Given the description of an element on the screen output the (x, y) to click on. 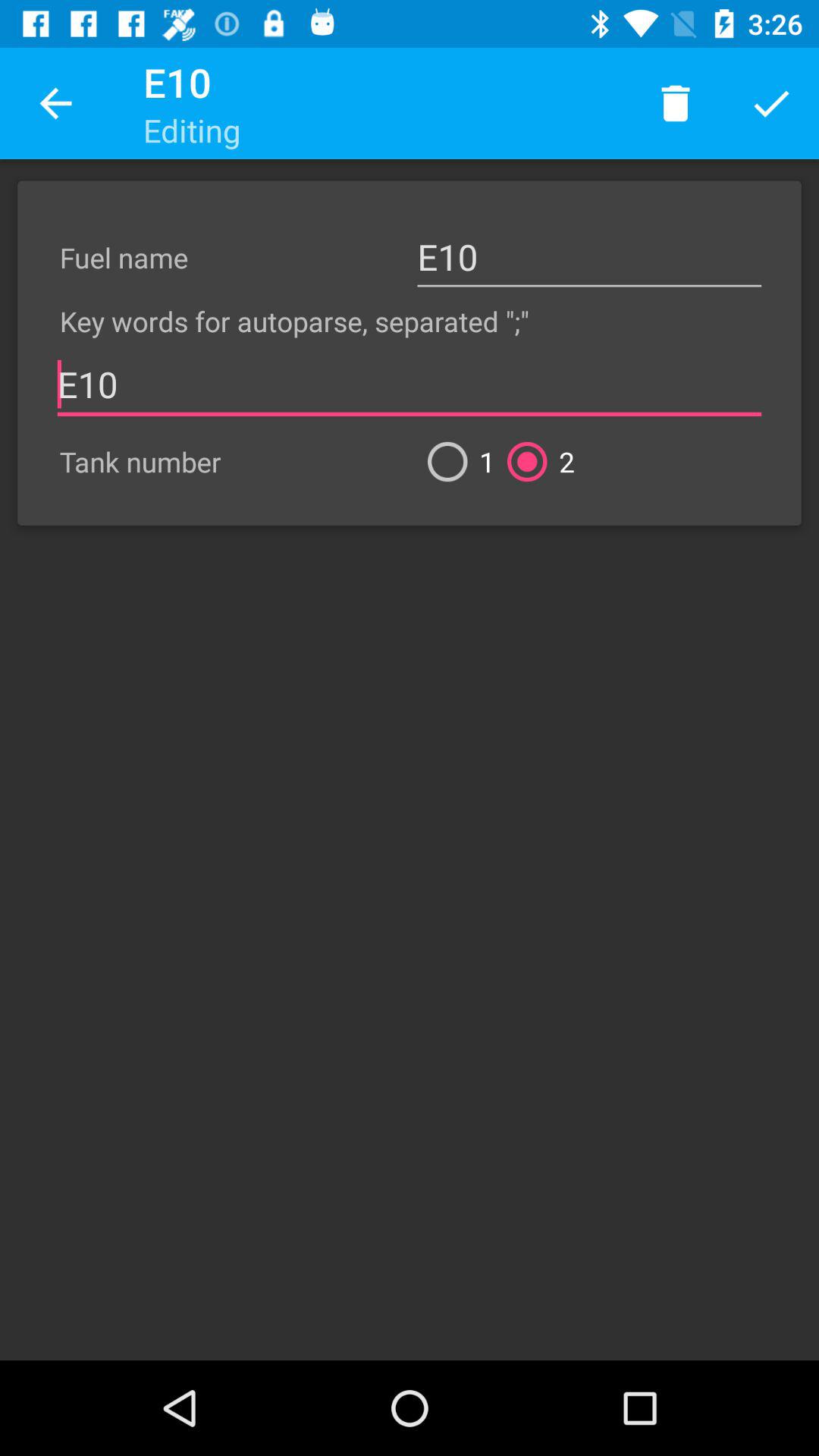
turn on icon to the right of tank number (455, 461)
